Given the description of an element on the screen output the (x, y) to click on. 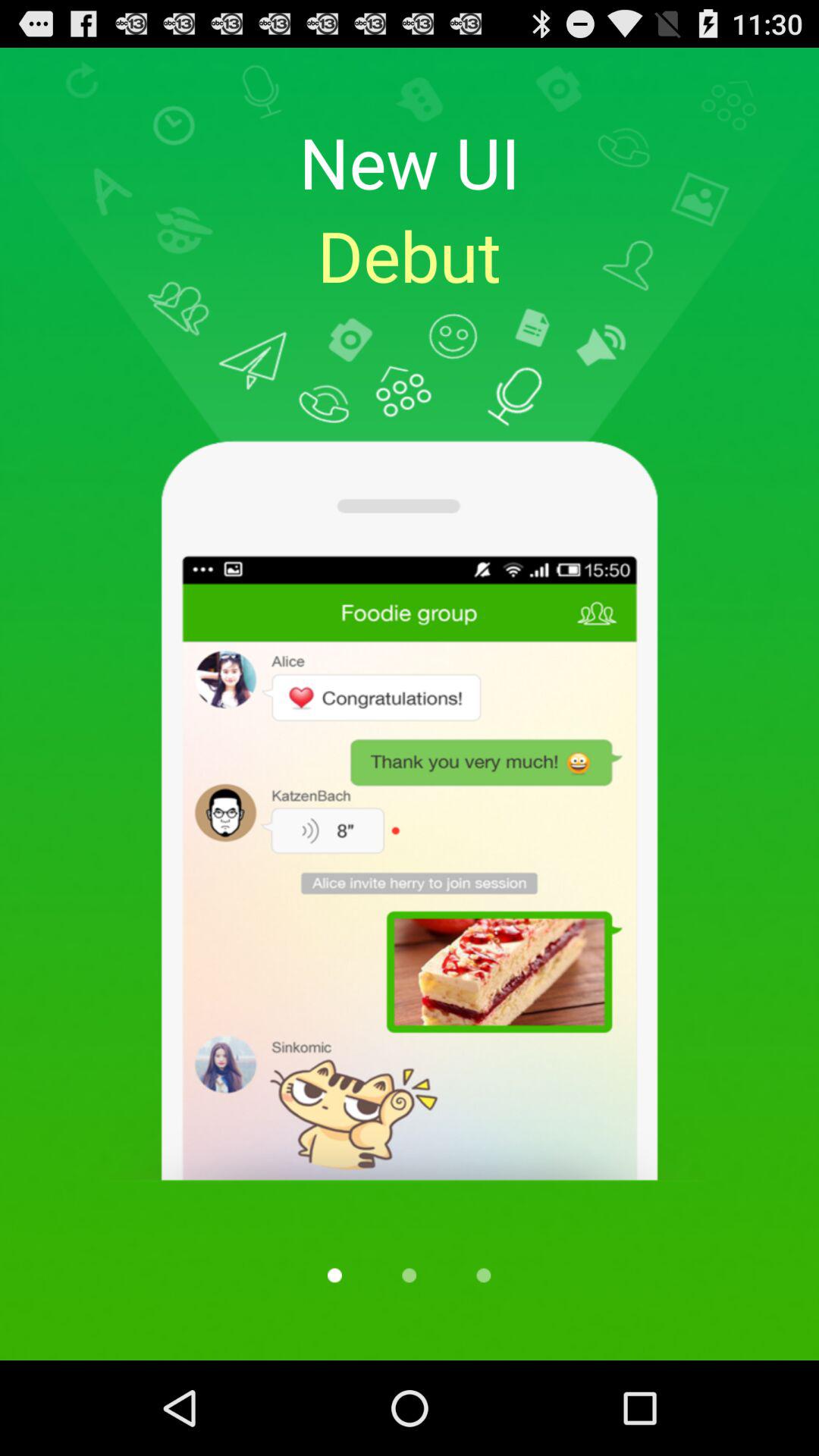
next tab (483, 1275)
